Given the description of an element on the screen output the (x, y) to click on. 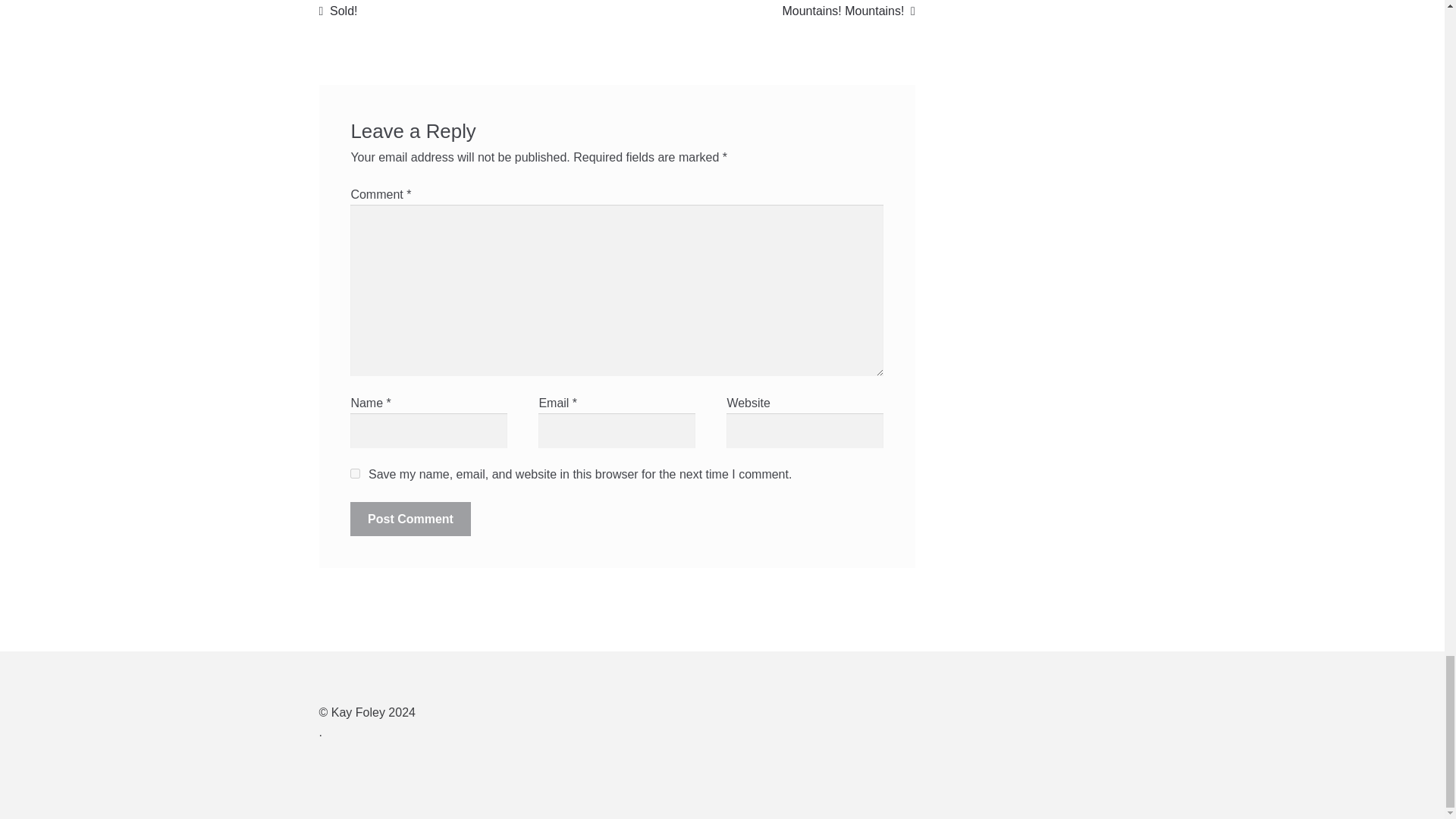
Post Comment (410, 519)
Post Comment (847, 11)
yes (410, 519)
